Given the description of an element on the screen output the (x, y) to click on. 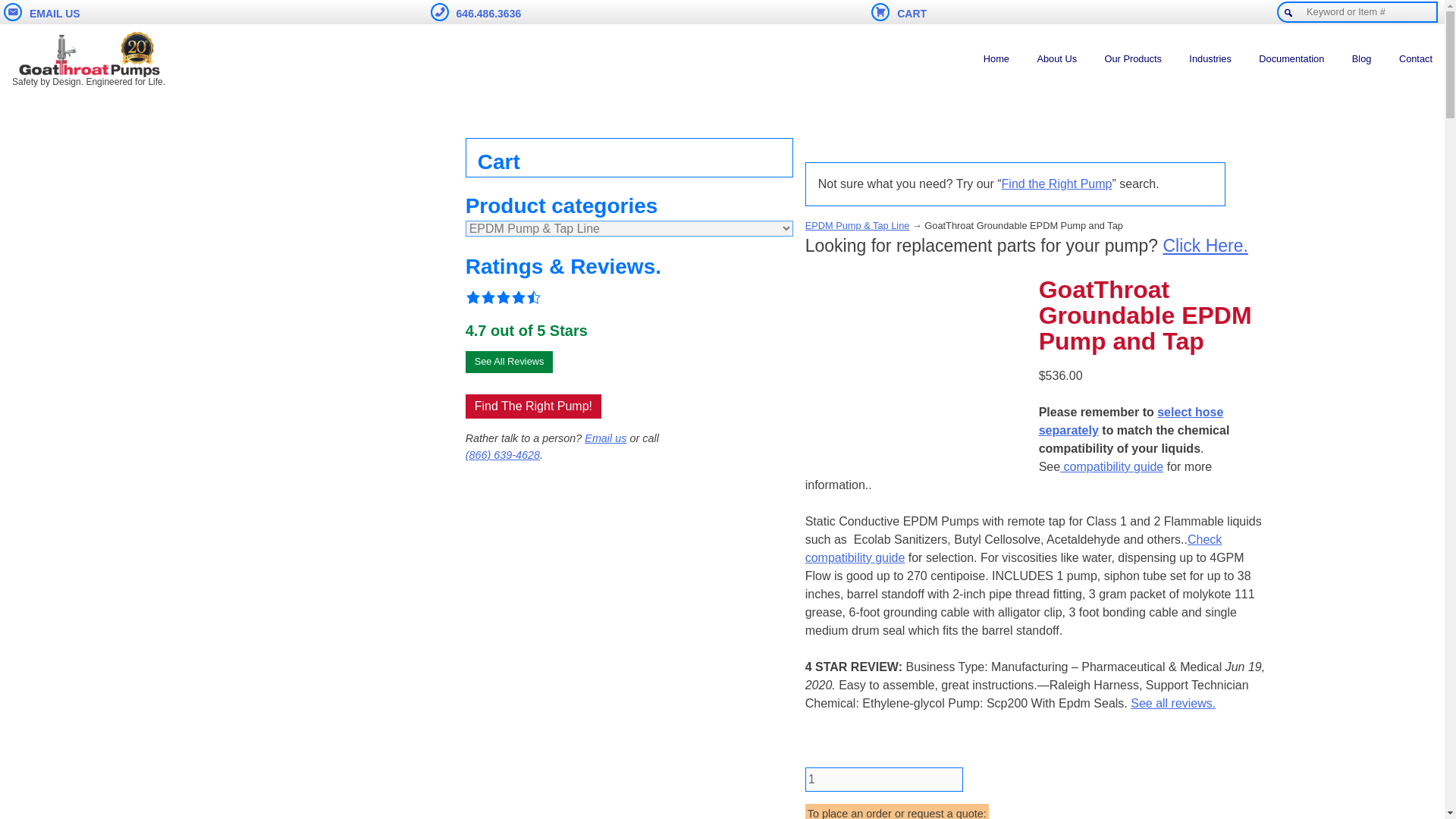
Contact (1415, 58)
1 (883, 779)
CART (898, 12)
Industries (1209, 58)
646.486.3636 (475, 12)
About Us (1057, 58)
Our Products (1132, 58)
Email Us (42, 12)
GoatThroat Pumps (88, 53)
Documentation (1291, 58)
EMAIL US (42, 12)
Home (996, 58)
